Given the description of an element on the screen output the (x, y) to click on. 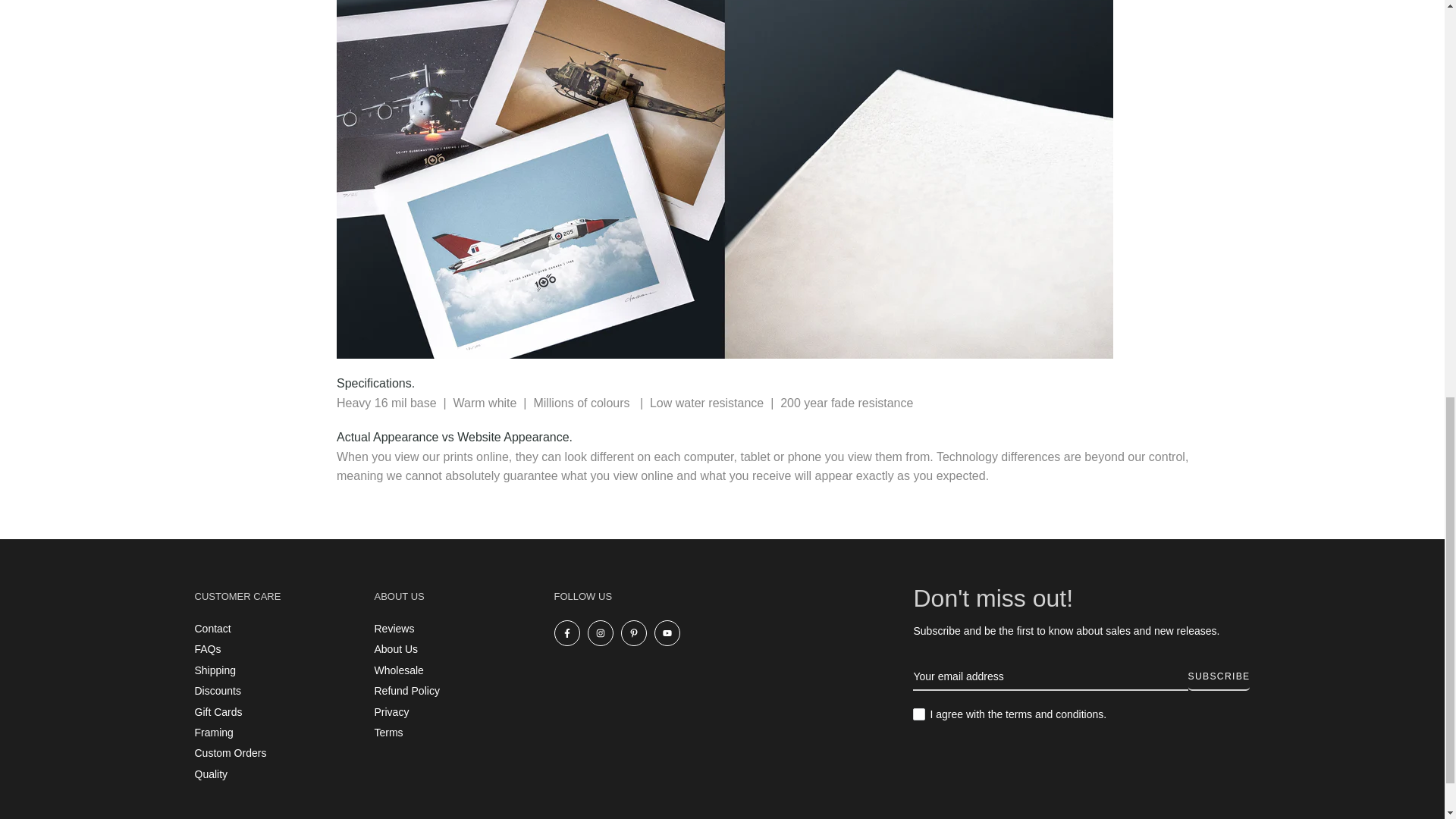
Privacy (391, 711)
Framing (212, 732)
Refund Policy (406, 690)
Custom Orders (229, 752)
Follow on Instagram (599, 632)
Reviews (394, 628)
Wholesale (398, 670)
SUBSCRIBE (1218, 677)
FAQs (207, 648)
Contact (211, 628)
